Given the description of an element on the screen output the (x, y) to click on. 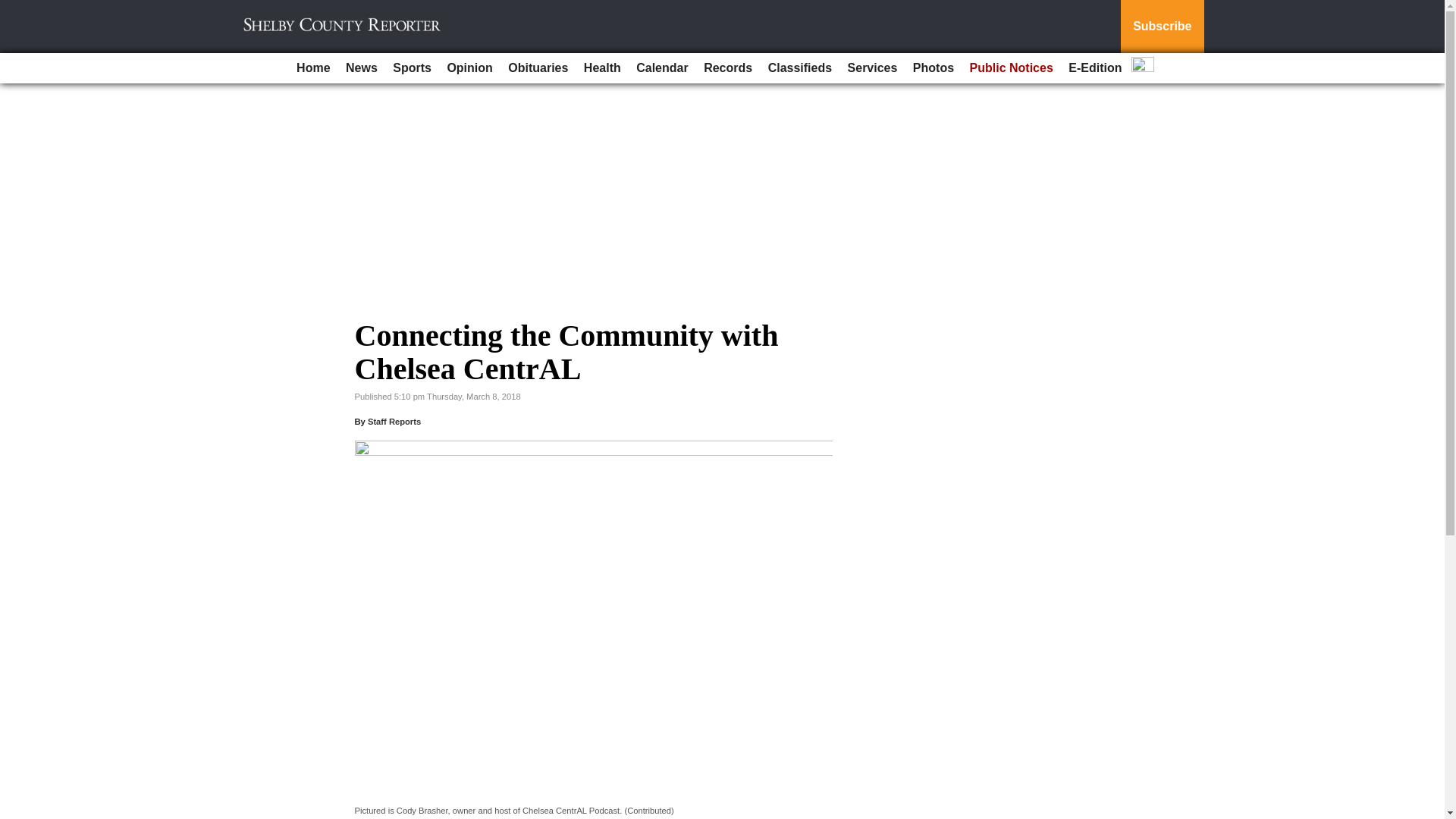
News (361, 68)
Home (312, 68)
Services (872, 68)
Records (727, 68)
Obituaries (537, 68)
Opinion (469, 68)
Health (602, 68)
Subscribe (1162, 26)
Classifieds (799, 68)
Calendar (662, 68)
